Given the description of an element on the screen output the (x, y) to click on. 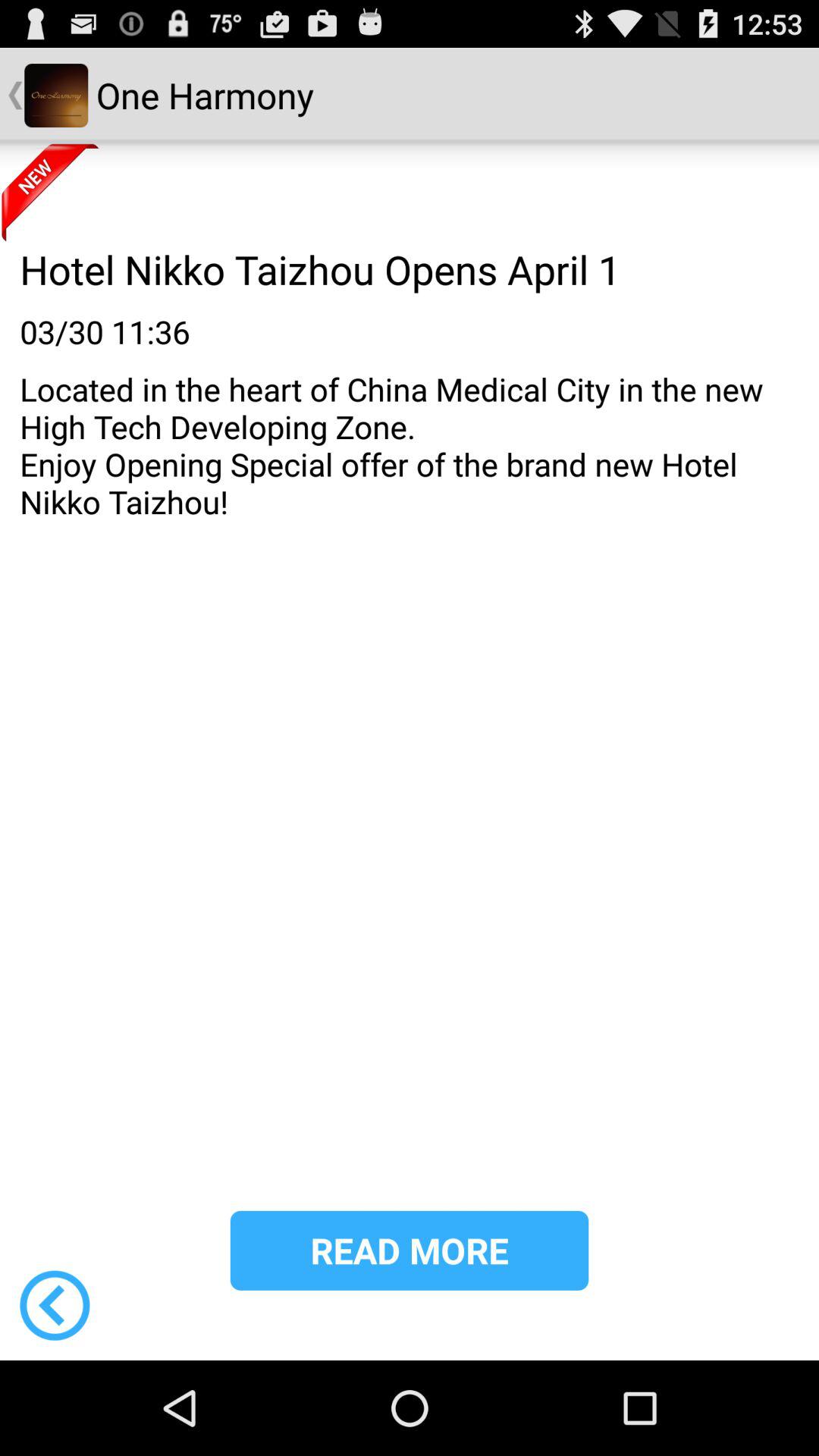
back (54, 1305)
